Given the description of an element on the screen output the (x, y) to click on. 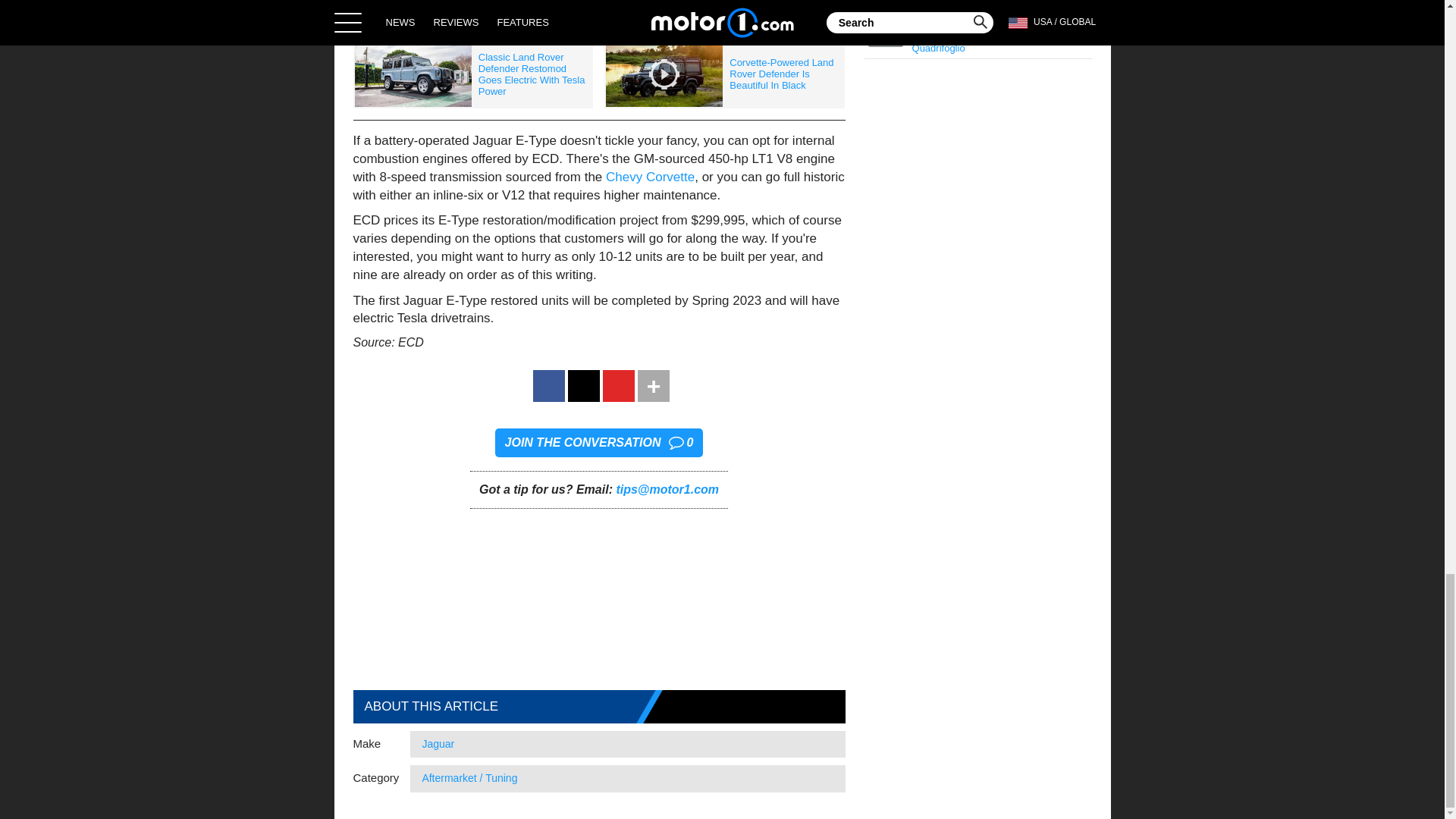
Chevy Corvette (648, 176)
